Given the description of an element on the screen output the (x, y) to click on. 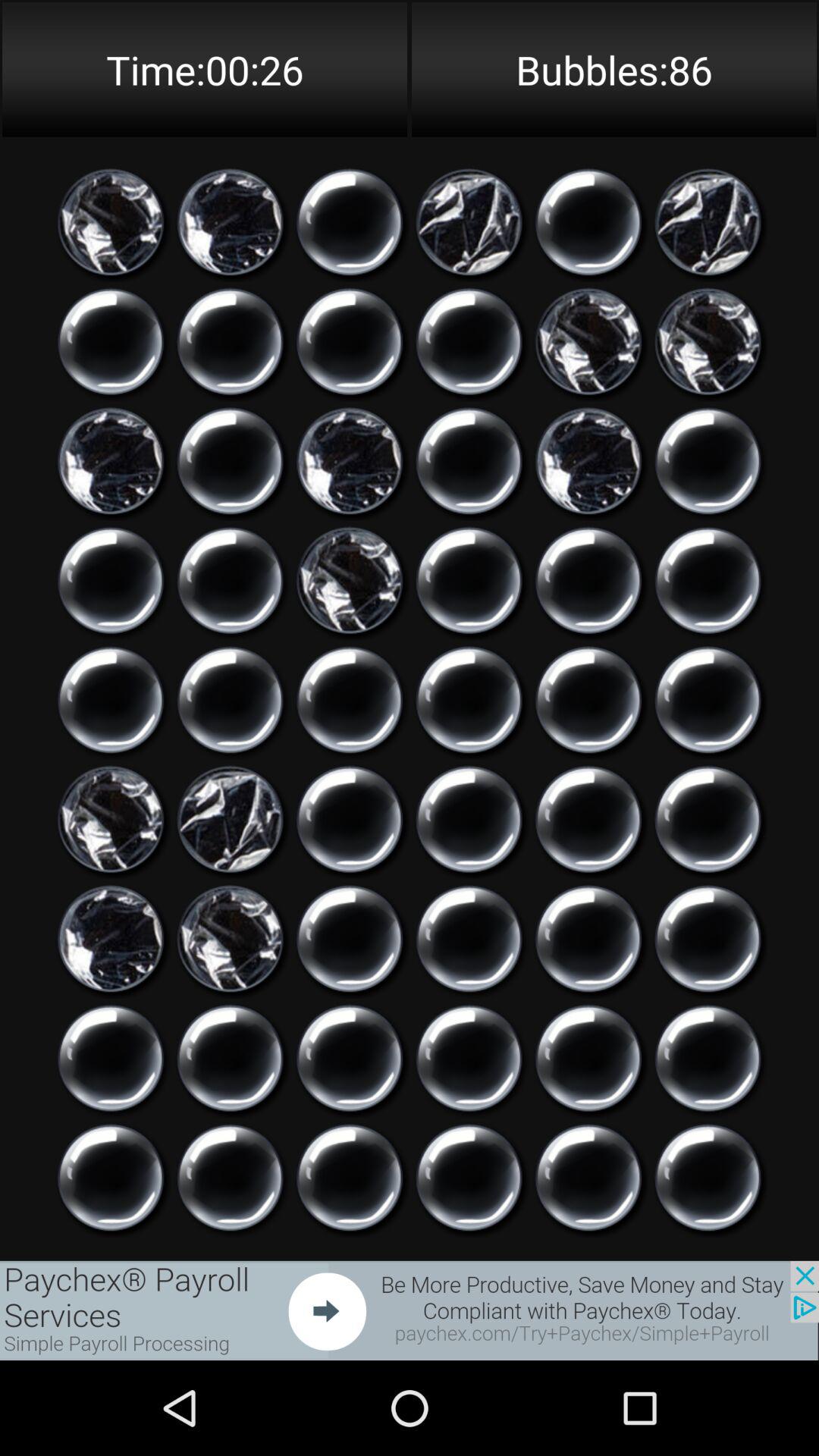
bubble image (110, 341)
